Given the description of an element on the screen output the (x, y) to click on. 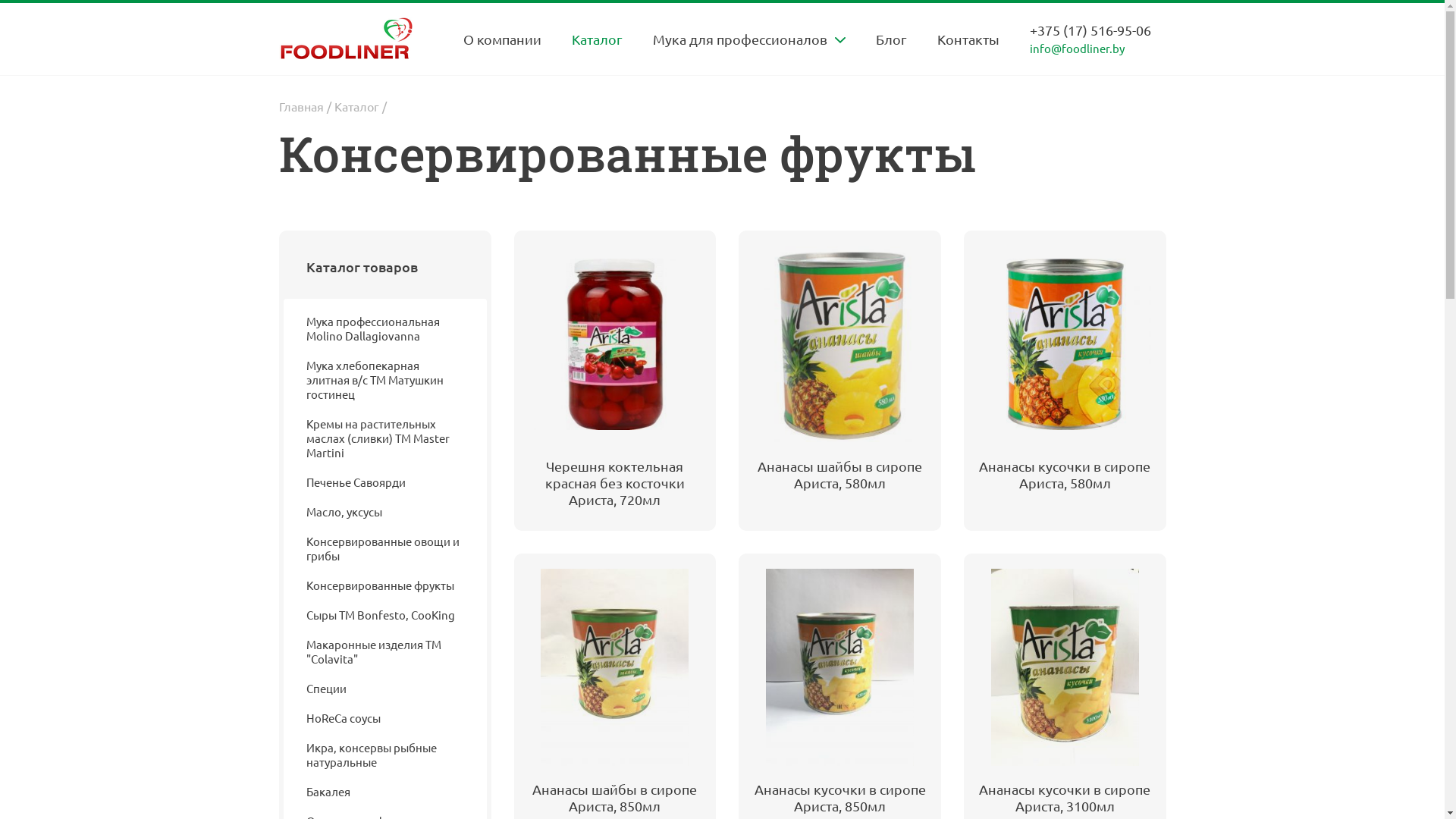
info@foodliner.by Element type: text (1090, 48)
+375 (17) 516-95-06 Element type: text (1090, 30)
